Given the description of an element on the screen output the (x, y) to click on. 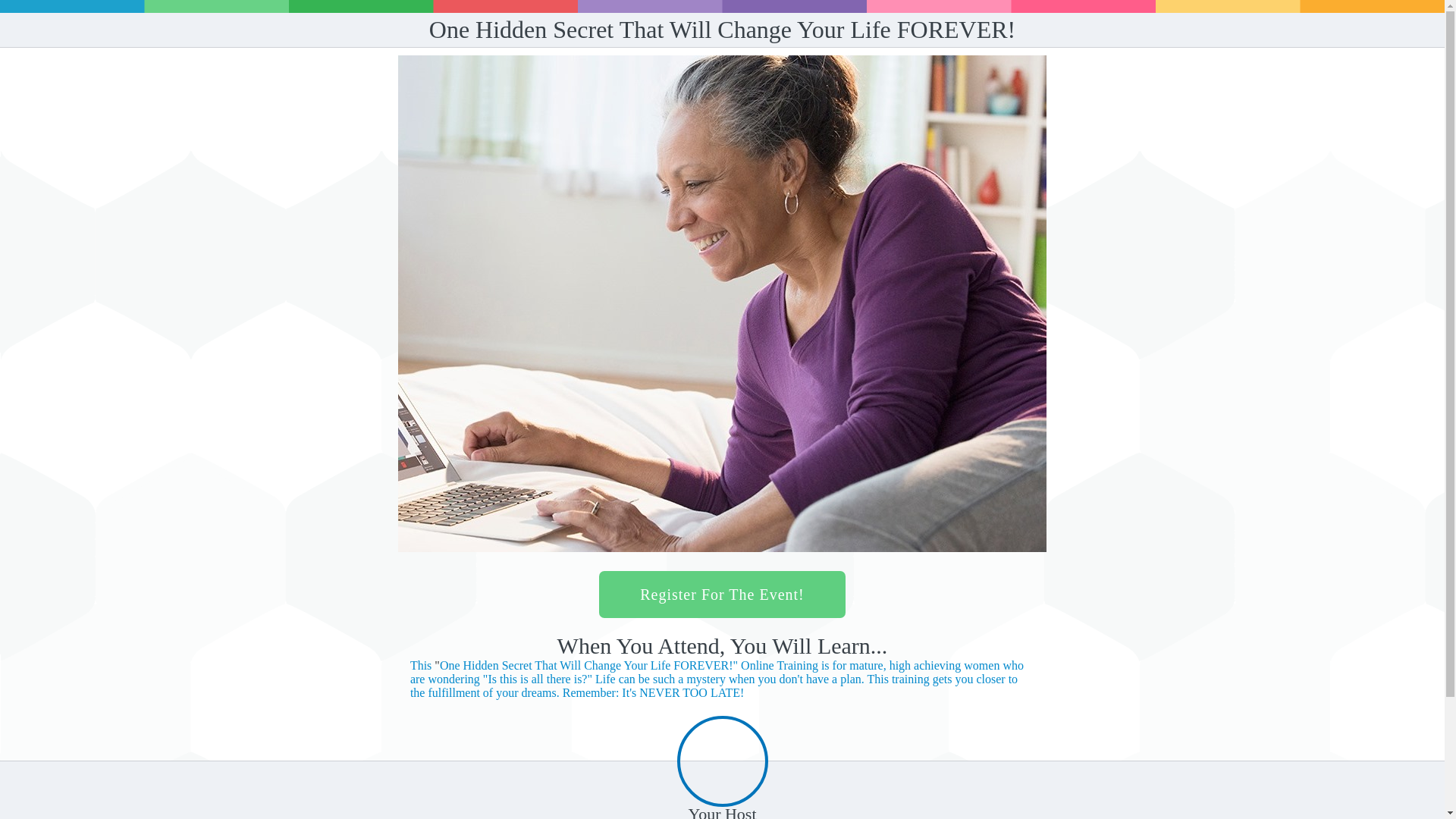
Register For The Event! (721, 594)
This  (421, 665)
One Hidden Secret That Will Change Your Life FOREVER! (630, 665)
One Hidden Secret That Will Change Your Life FOREVER! (421, 665)
One Hidden Secret That Will Change Your Life FOREVER! (716, 679)
